Given the description of an element on the screen output the (x, y) to click on. 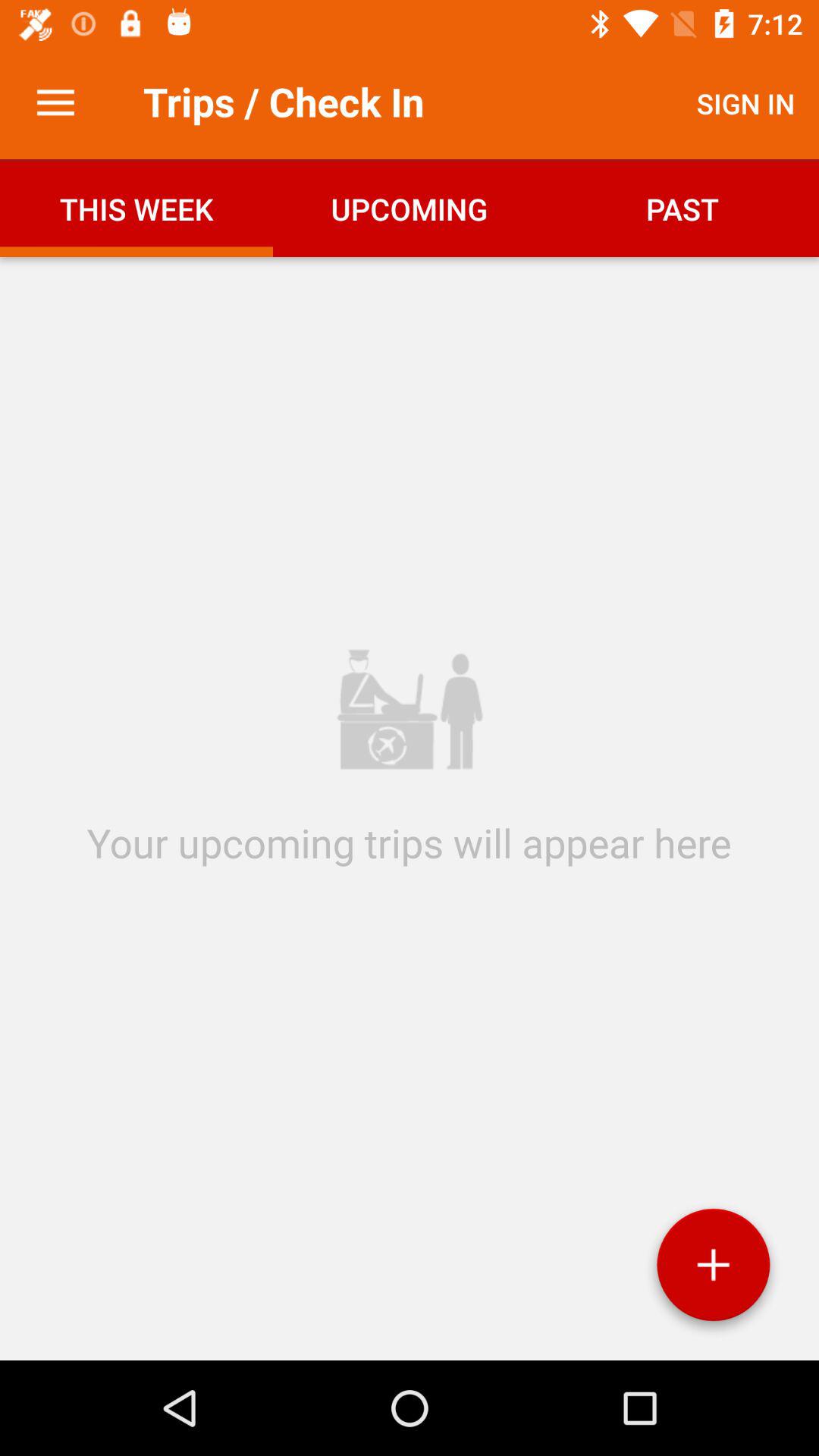
turn off item next to the trips / check in item (745, 103)
